Given the description of an element on the screen output the (x, y) to click on. 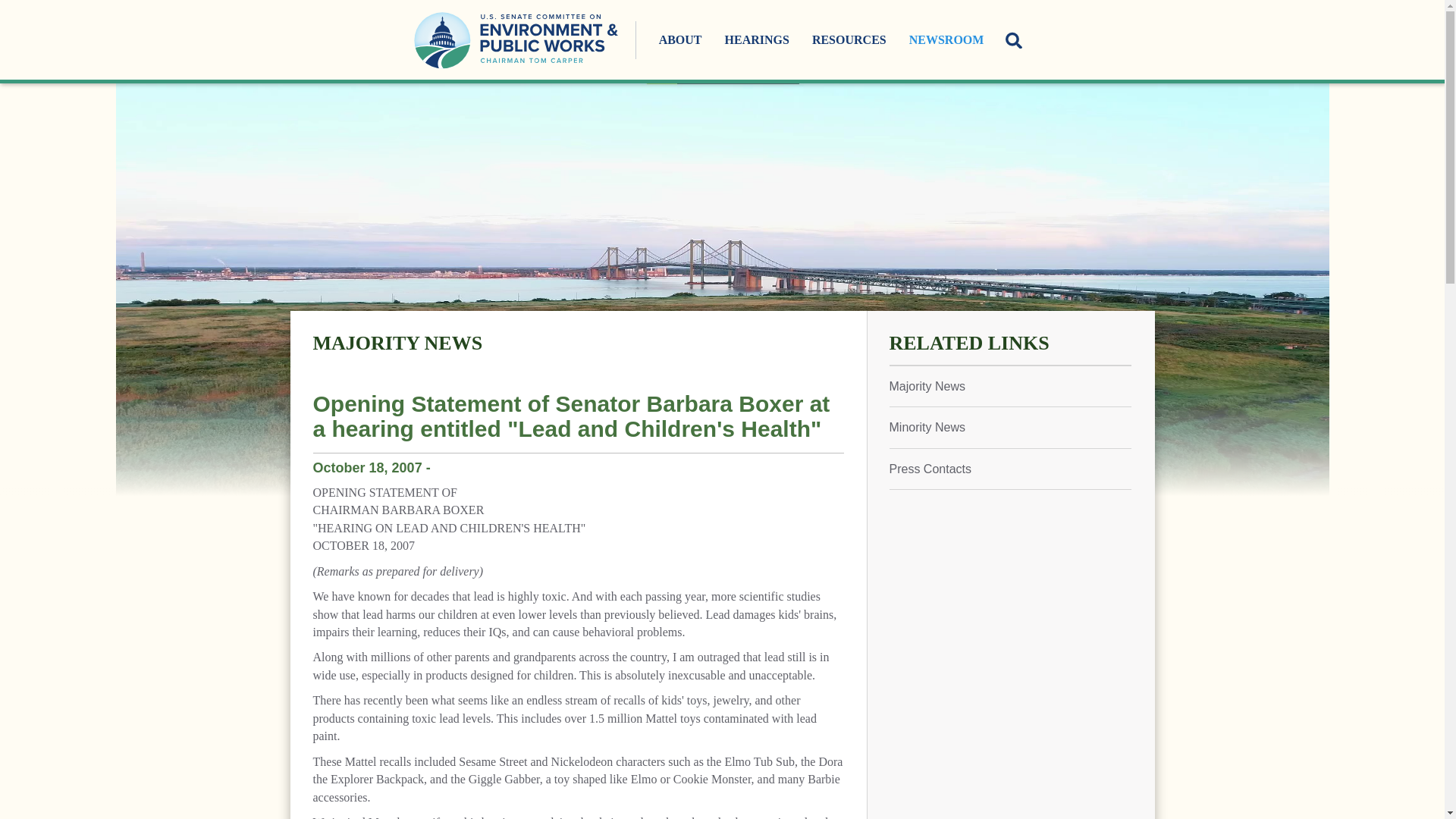
MAJORITY NEWS (397, 342)
RESOURCES (849, 39)
Press Contacts (1009, 468)
HEARINGS (756, 39)
ABOUT (680, 39)
Minority News (1009, 427)
Majority News (1009, 386)
NEWSROOM (946, 39)
